Given the description of an element on the screen output the (x, y) to click on. 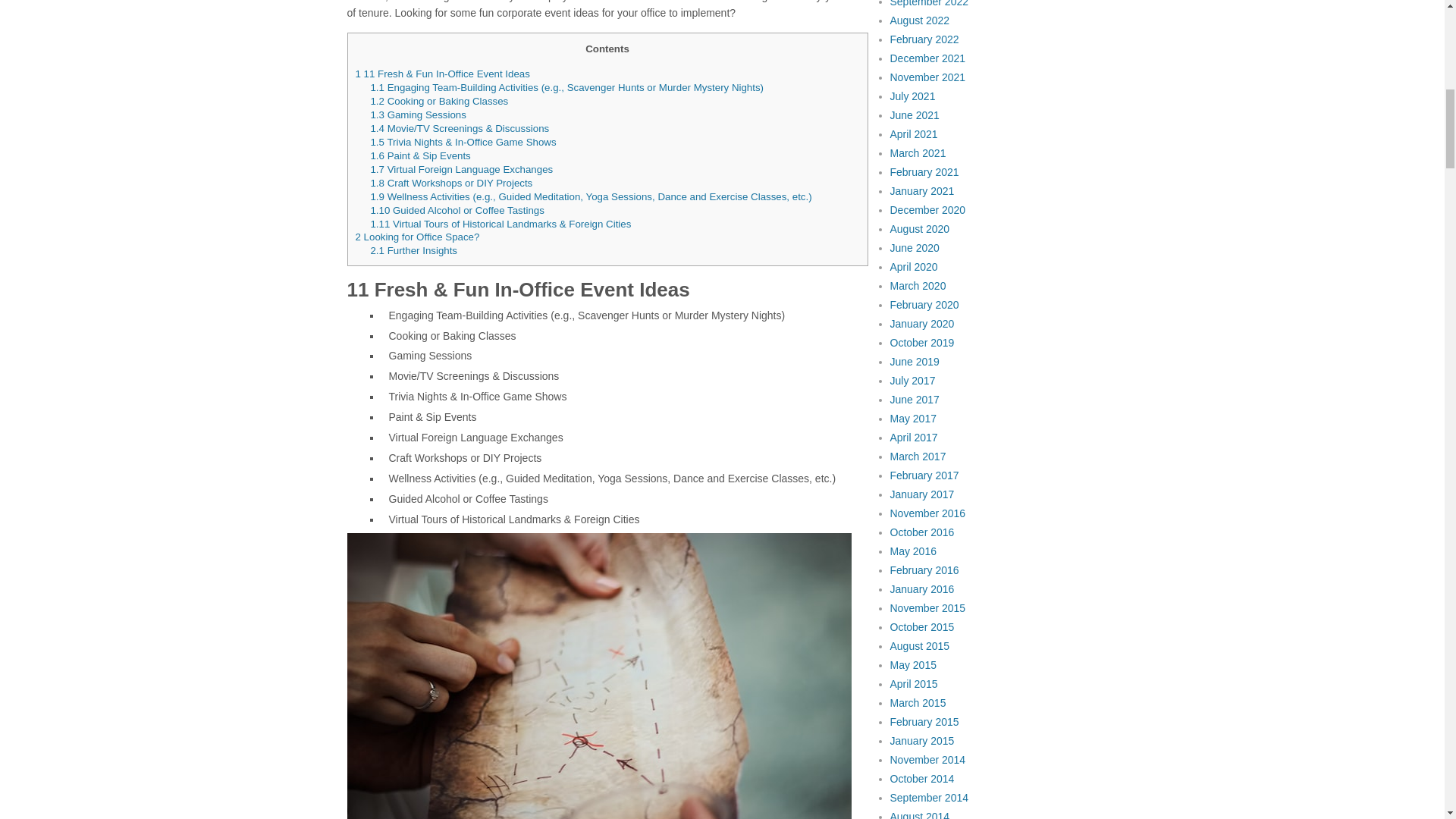
1.10 Guided Alcohol or Coffee Tastings (456, 210)
1.8 Craft Workshops or DIY Projects (450, 183)
2.1 Further Insights (413, 250)
2 Looking for Office Space? (417, 236)
1.7 Virtual Foreign Language Exchanges (461, 169)
1.2 Cooking or Baking Classes (438, 101)
1.3 Gaming Sessions (417, 114)
